Given the description of an element on the screen output the (x, y) to click on. 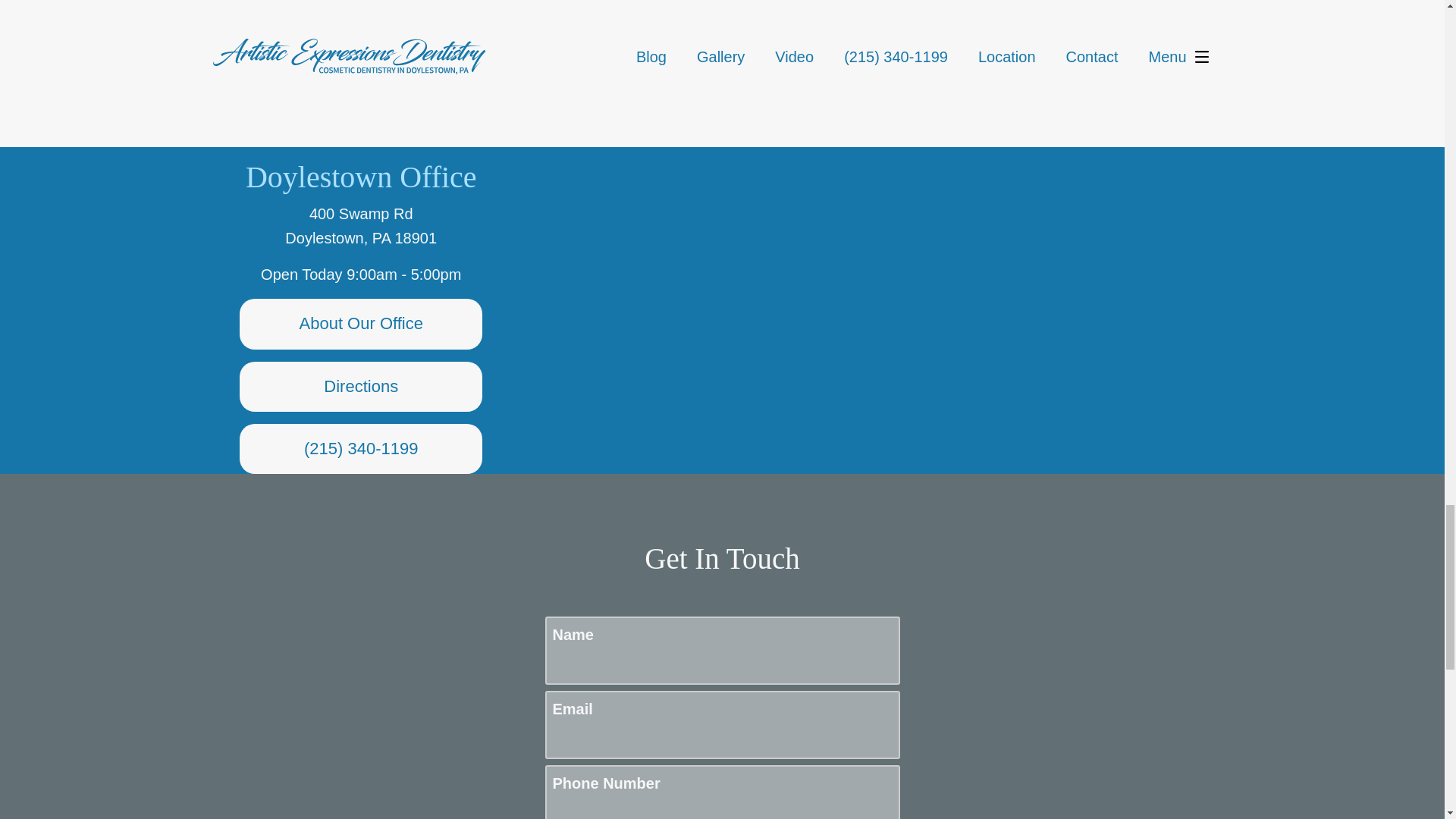
About Our Office (360, 323)
contact our practice online (905, 43)
Directions (360, 386)
Doylestown Office (361, 176)
Locations (1029, 158)
